Given the description of an element on the screen output the (x, y) to click on. 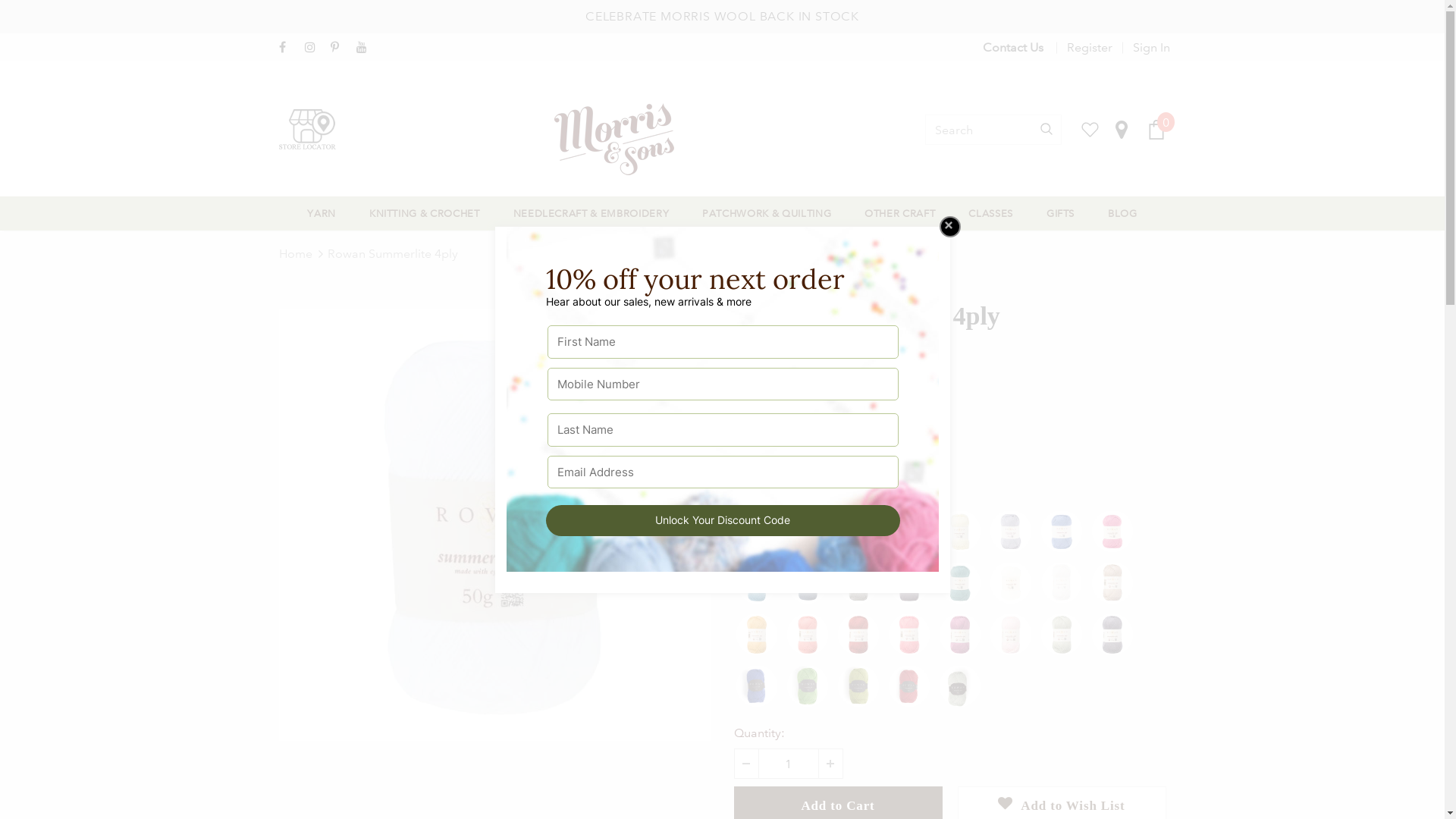
Rowan Element type: text (848, 351)
GIFTS Element type: text (1060, 213)
YARN Element type: text (321, 213)
Logo Element type: hover (630, 139)
YouTube Element type: hover (365, 47)
NEEDLECRAFT & EMBROIDERY Element type: text (591, 213)
BLOG Element type: text (1122, 213)
PATCHWORK & QUILTING Element type: text (766, 213)
0 Element type: text (1156, 129)
KNITTING & CROCHET Element type: text (424, 213)
Sign In Element type: text (1146, 47)
Instagram Element type: hover (313, 47)
Register Element type: text (1088, 47)
Contact Us Element type: text (1012, 47)
OTHER CRAFT Element type: text (899, 213)
Pinterest Element type: hover (339, 47)
CLASSES Element type: text (990, 213)
Facebook Element type: hover (288, 47)
Home Element type: text (295, 253)
